Given the description of an element on the screen output the (x, y) to click on. 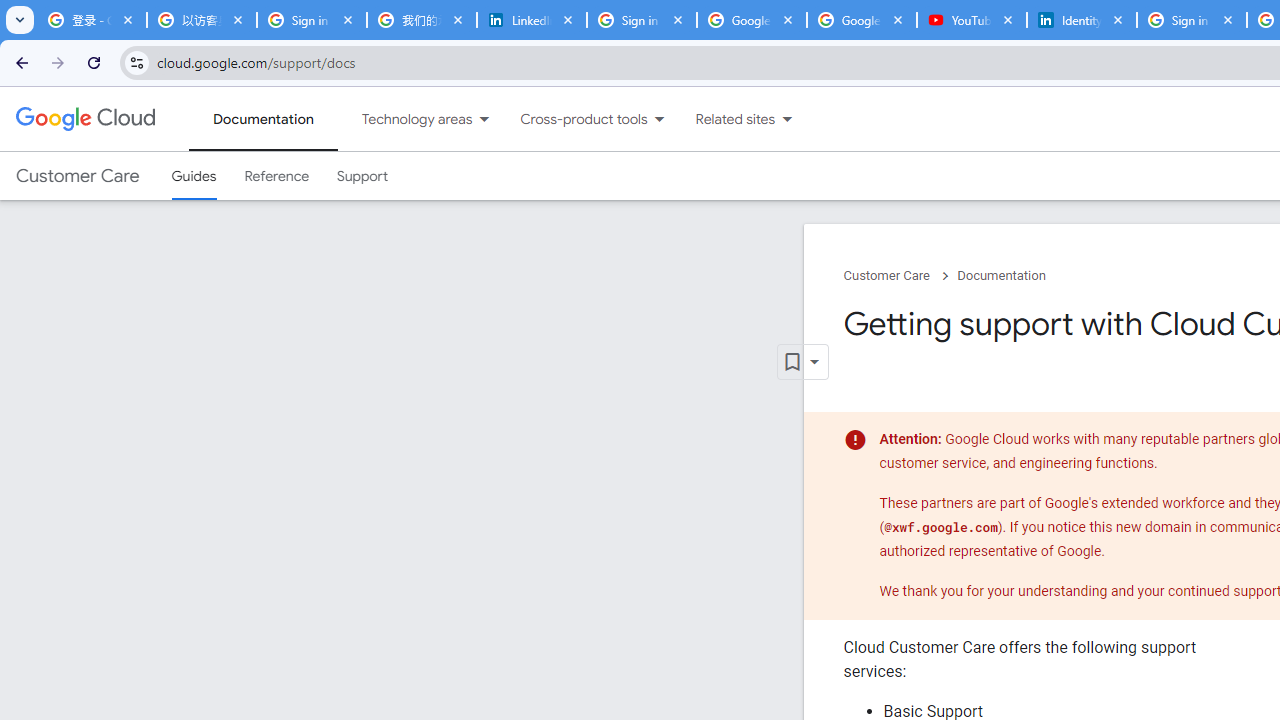
Cross-product tools (571, 119)
LinkedIn Privacy Policy (532, 20)
Sign in - Google Accounts (312, 20)
Open dropdown (802, 362)
Sign in - Google Accounts (642, 20)
Support (362, 175)
Google Cloud (84, 118)
Dropdown menu for Related sites (787, 119)
Related sites (722, 119)
